Given the description of an element on the screen output the (x, y) to click on. 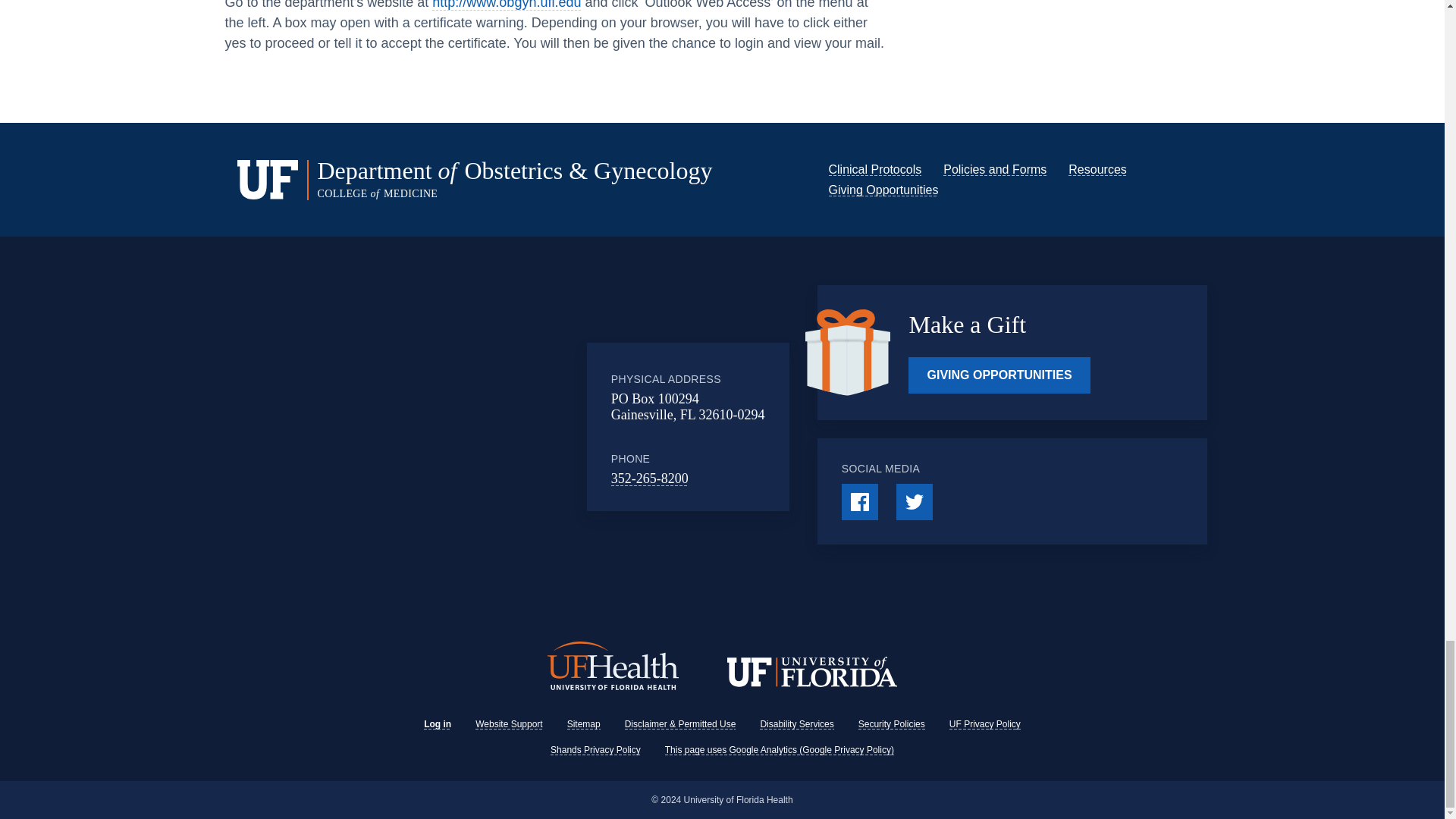
Shands Privacy Policy (595, 749)
UF Privacy Policy (984, 724)
Clinical Protocols (874, 169)
Policies and Forms (994, 169)
Resources (1096, 169)
Log in (437, 724)
Disability Services (796, 724)
Sitemap (583, 724)
352-265-8200 (649, 478)
Google Maps Embed (462, 426)
Giving Opportunities (882, 189)
Website Support (509, 724)
Security Policies (891, 724)
